Given the description of an element on the screen output the (x, y) to click on. 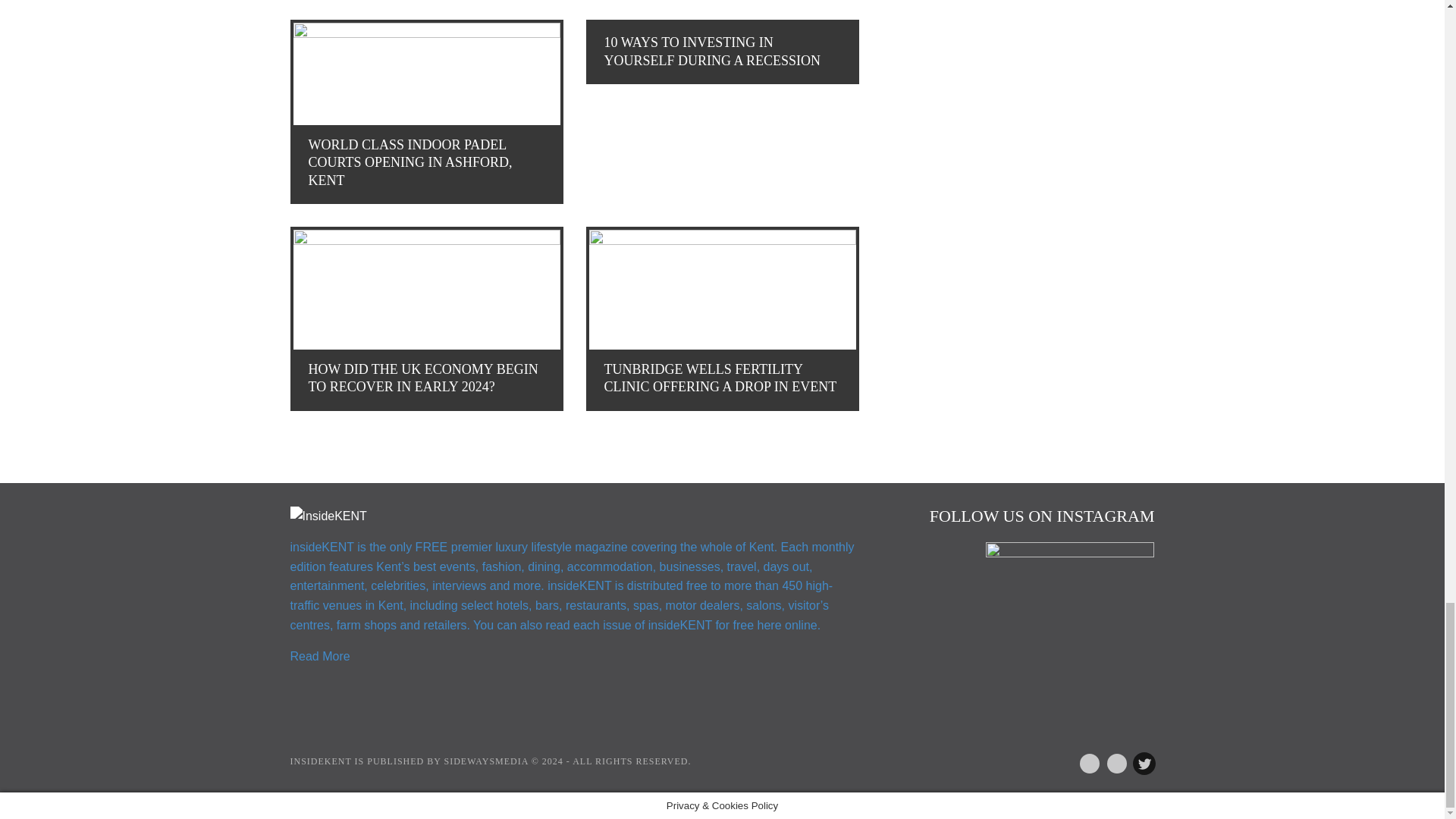
Twitter (1138, 760)
Instagram (1110, 760)
Facebook (1082, 760)
